Given the description of an element on the screen output the (x, y) to click on. 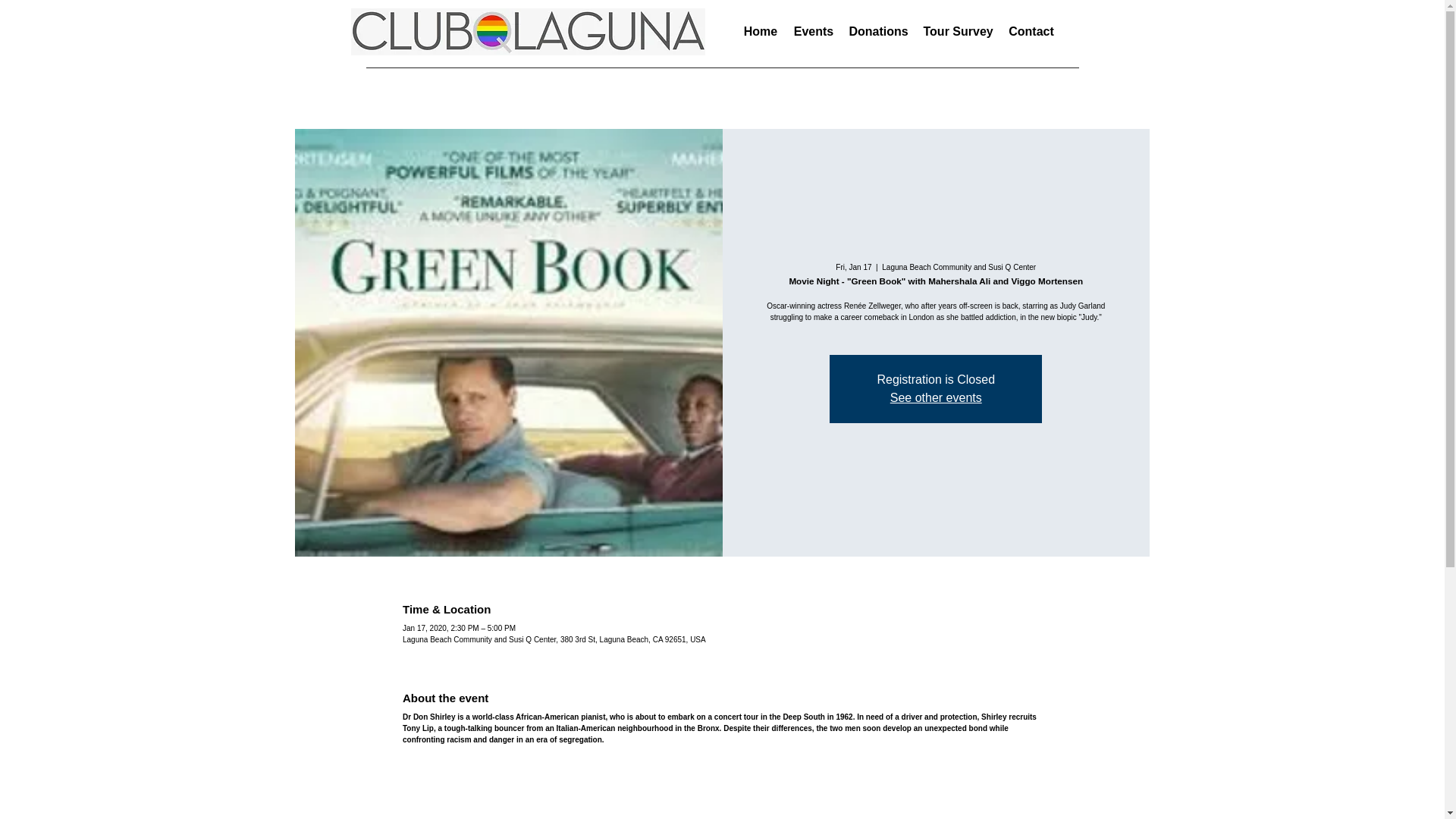
See other events (935, 397)
Contact (1031, 31)
Donations (878, 31)
Tour Survey (958, 31)
Home (760, 31)
Events (813, 31)
CLUB Q LAGUNA BEACH (562, 45)
